Given the description of an element on the screen output the (x, y) to click on. 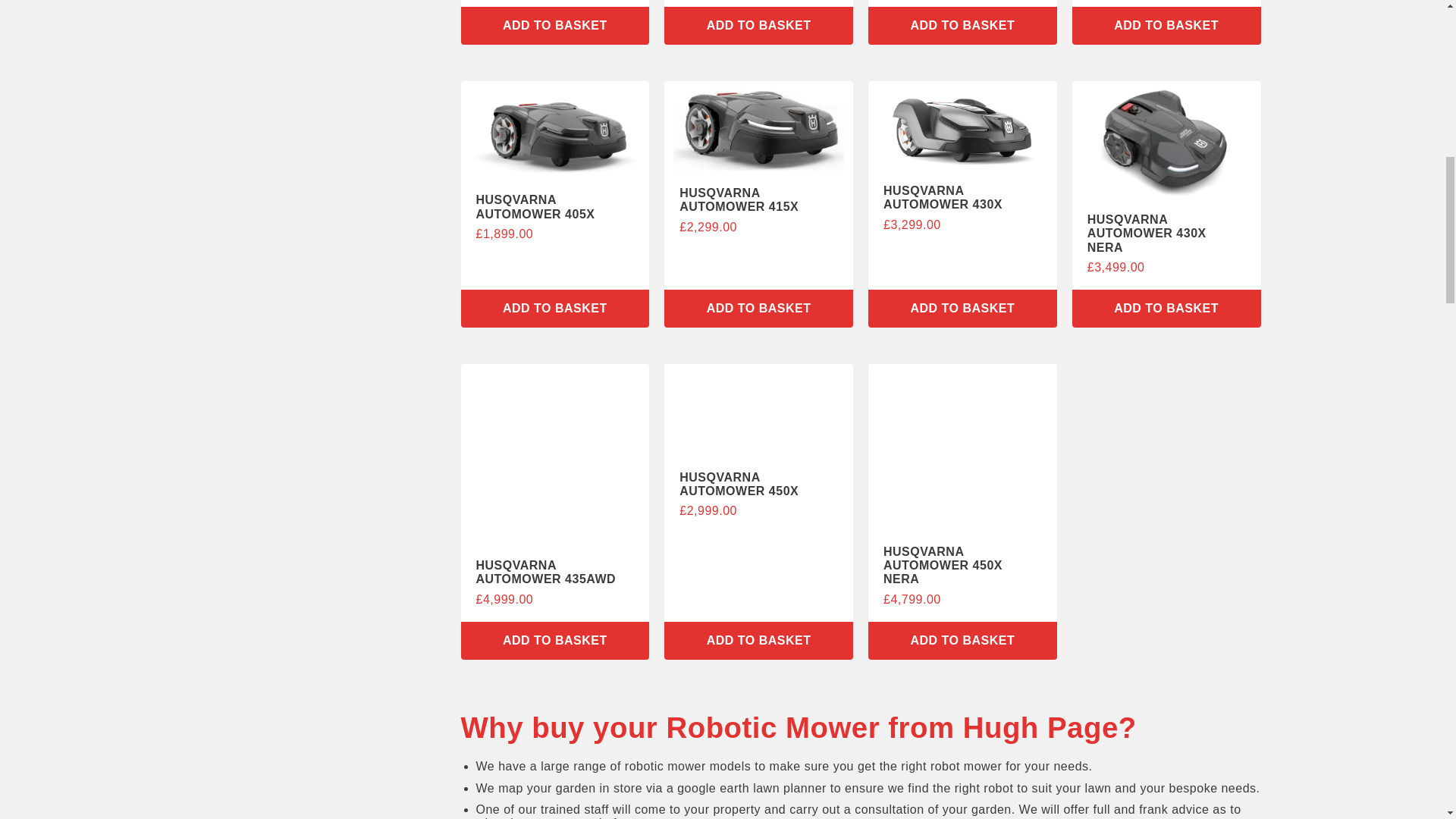
ADD TO BASKET (962, 25)
ADD TO BASKET (555, 25)
ADD TO BASKET (555, 308)
ADD TO BASKET (758, 308)
ADD TO BASKET (1165, 25)
ADD TO BASKET (758, 25)
